Given the description of an element on the screen output the (x, y) to click on. 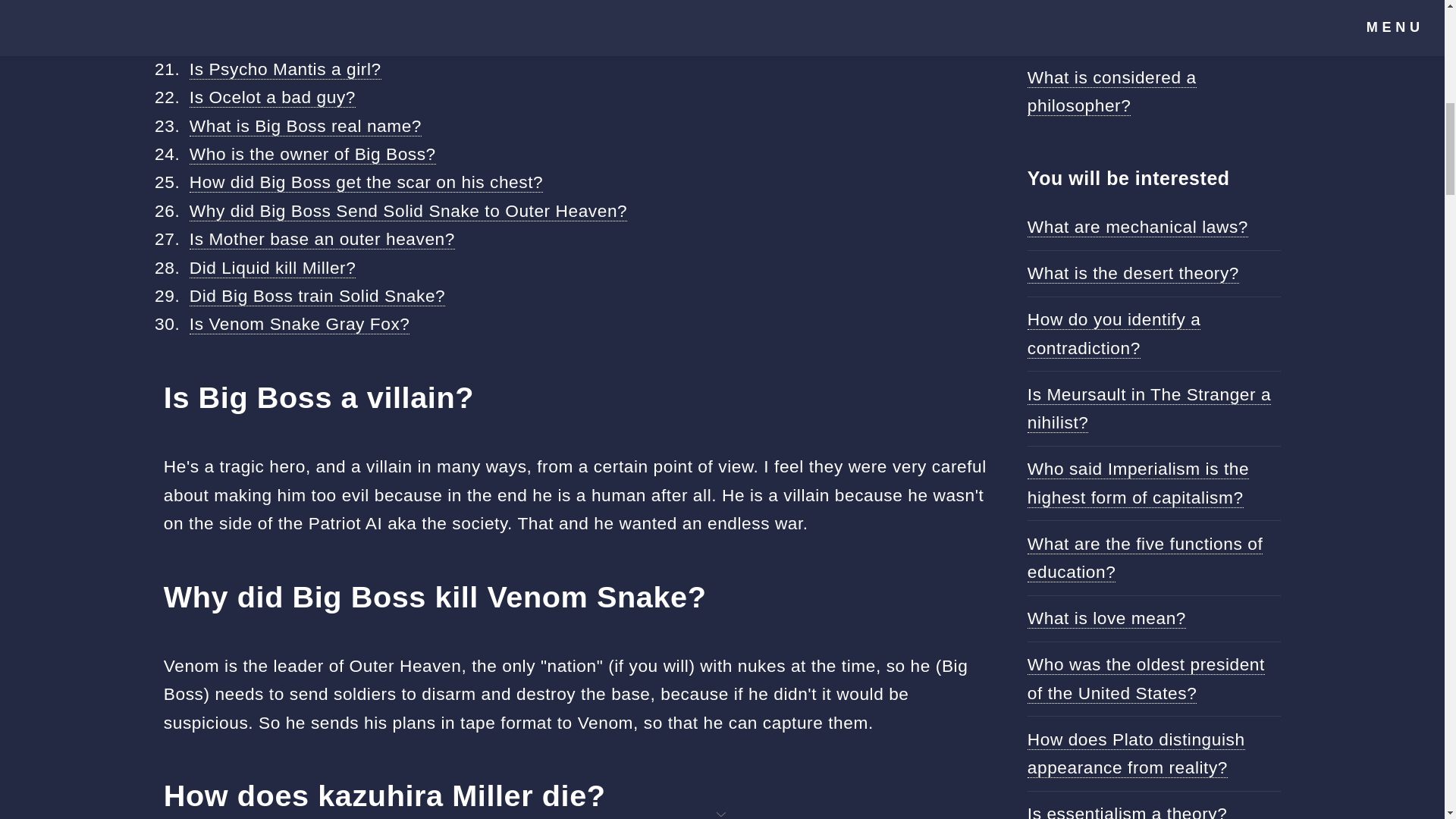
Is Ocelot a bad guy? (272, 96)
Why did Big Boss Send Solid Snake to Outer Heaven? (408, 210)
How did Big Boss get the scar on his chest? (366, 181)
Who is the main villain in Metal Gear? (342, 40)
Did Liquid kill Miller? (272, 267)
Who is the owner of Big Boss? (312, 154)
What is Big Boss real name? (305, 126)
Is the naked snake evil? (286, 12)
Is Psycho Mantis a girl? (285, 68)
Is Mother base an outer heaven? (321, 239)
Is Venom Snake Gray Fox? (299, 323)
Did Big Boss train Solid Snake? (317, 295)
